Given the description of an element on the screen output the (x, y) to click on. 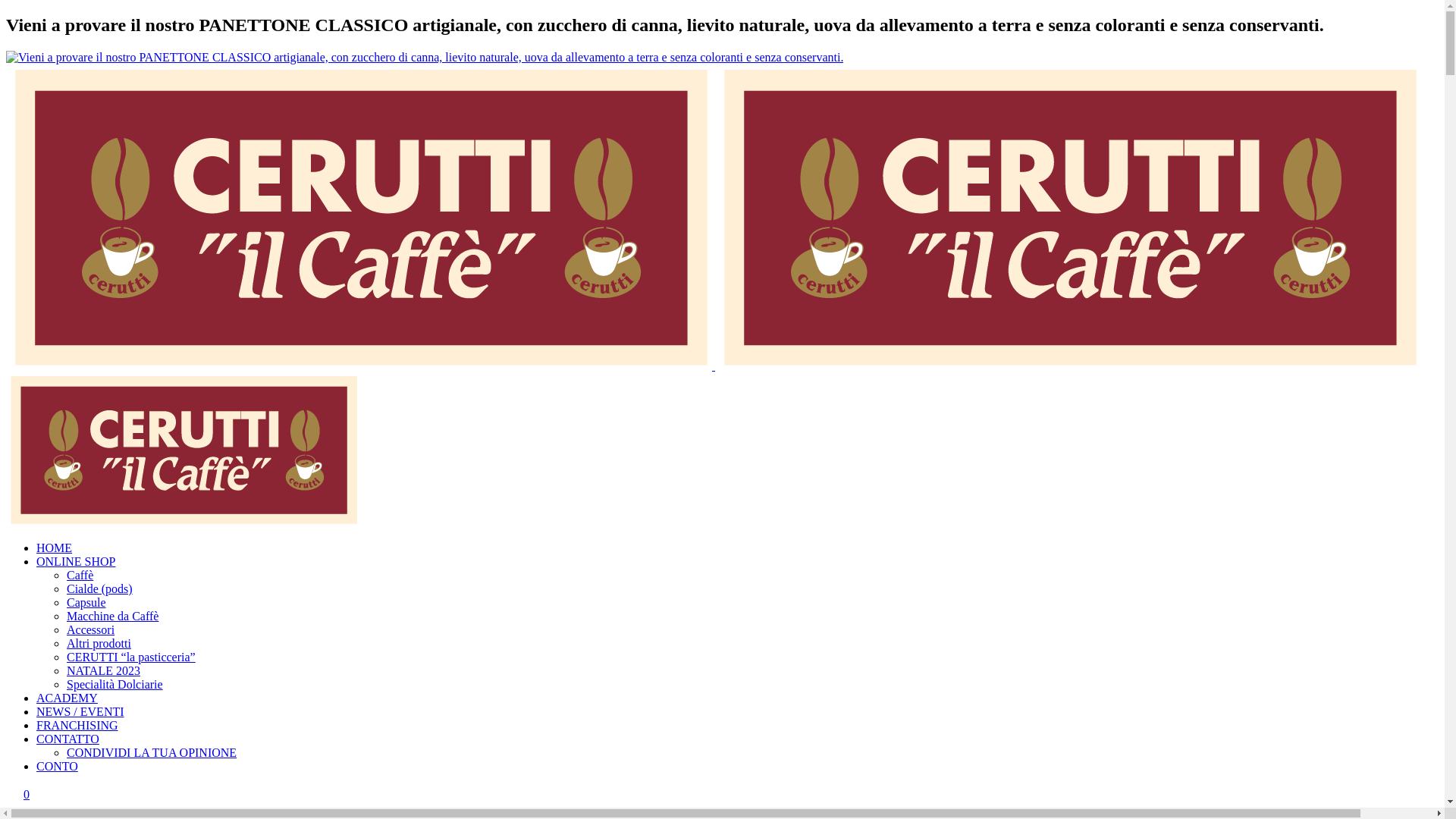
0 Element type: text (26, 793)
Accessori Element type: text (90, 629)
NEWS / EVENTI Element type: text (80, 711)
ACADEMY Element type: text (66, 697)
CONTO Element type: text (57, 765)
Cialde (pods) Element type: text (99, 588)
Altri prodotti Element type: text (98, 643)
Capsule Element type: text (86, 602)
ONLINE SHOP Element type: text (75, 561)
HOME Element type: text (54, 547)
CONTATTO Element type: text (67, 738)
FRANCHISING Element type: text (77, 724)
NATALE 2023 Element type: text (103, 670)
CONDIVIDI LA TUA OPINIONE Element type: text (151, 752)
